Given the description of an element on the screen output the (x, y) to click on. 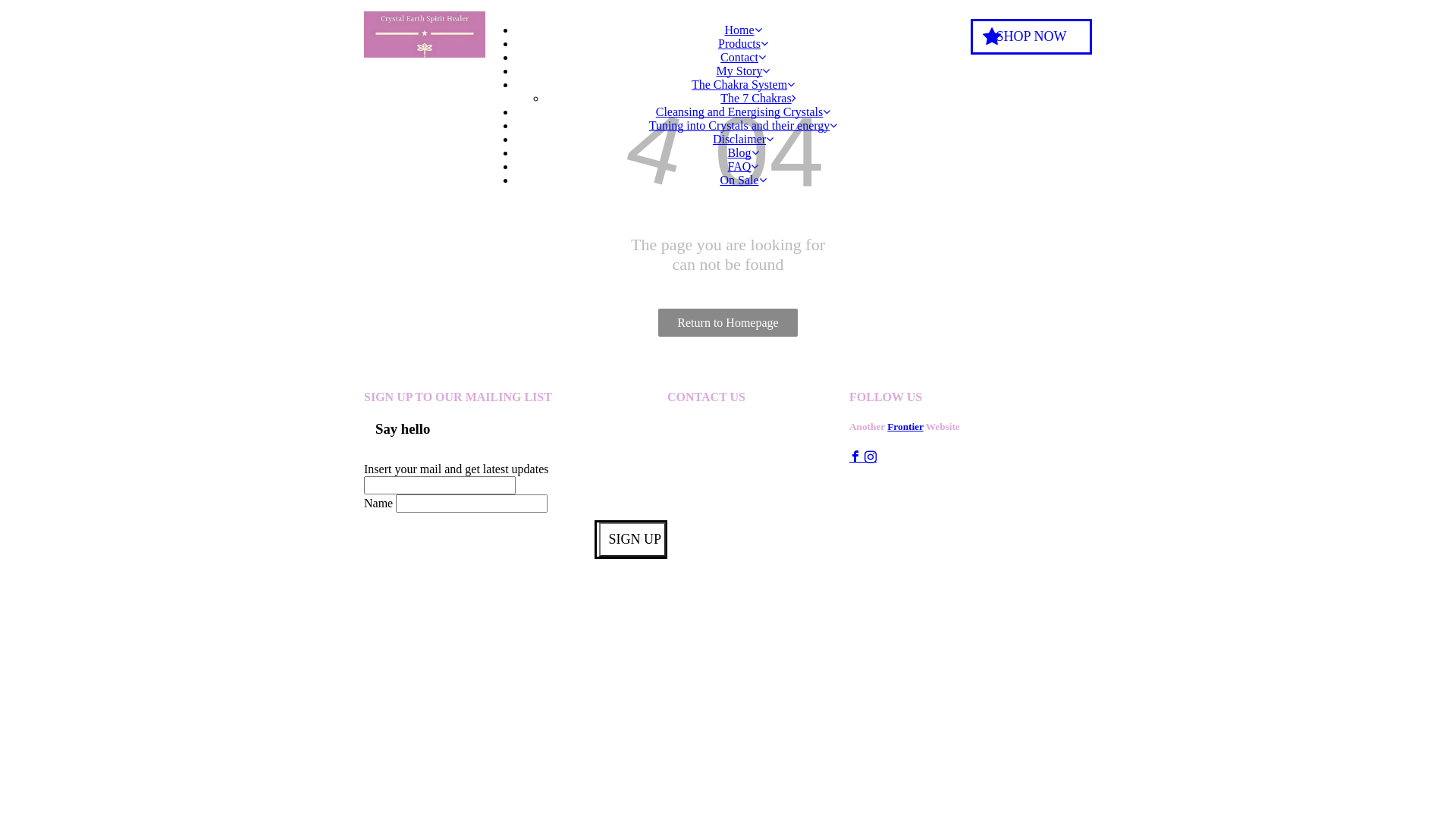
Blog Element type: text (742, 152)
Contact Element type: text (742, 56)
FAQ Element type: text (743, 166)
Frontier Element type: text (904, 426)
SIGN UP Element type: text (632, 539)
Tuning into Crystals and their energy Element type: text (743, 125)
Cleansing and Energising Crystals Element type: text (743, 111)
Return to Homepage Element type: text (727, 322)
On Sale Element type: text (742, 179)
Disclaimer Element type: text (742, 138)
The 7 Chakras Element type: text (757, 97)
Products Element type: text (743, 43)
Home Element type: text (742, 29)
SHOP NOW Element type: text (1031, 36)
The Chakra System Element type: text (742, 84)
My Story Element type: text (743, 70)
